Given the description of an element on the screen output the (x, y) to click on. 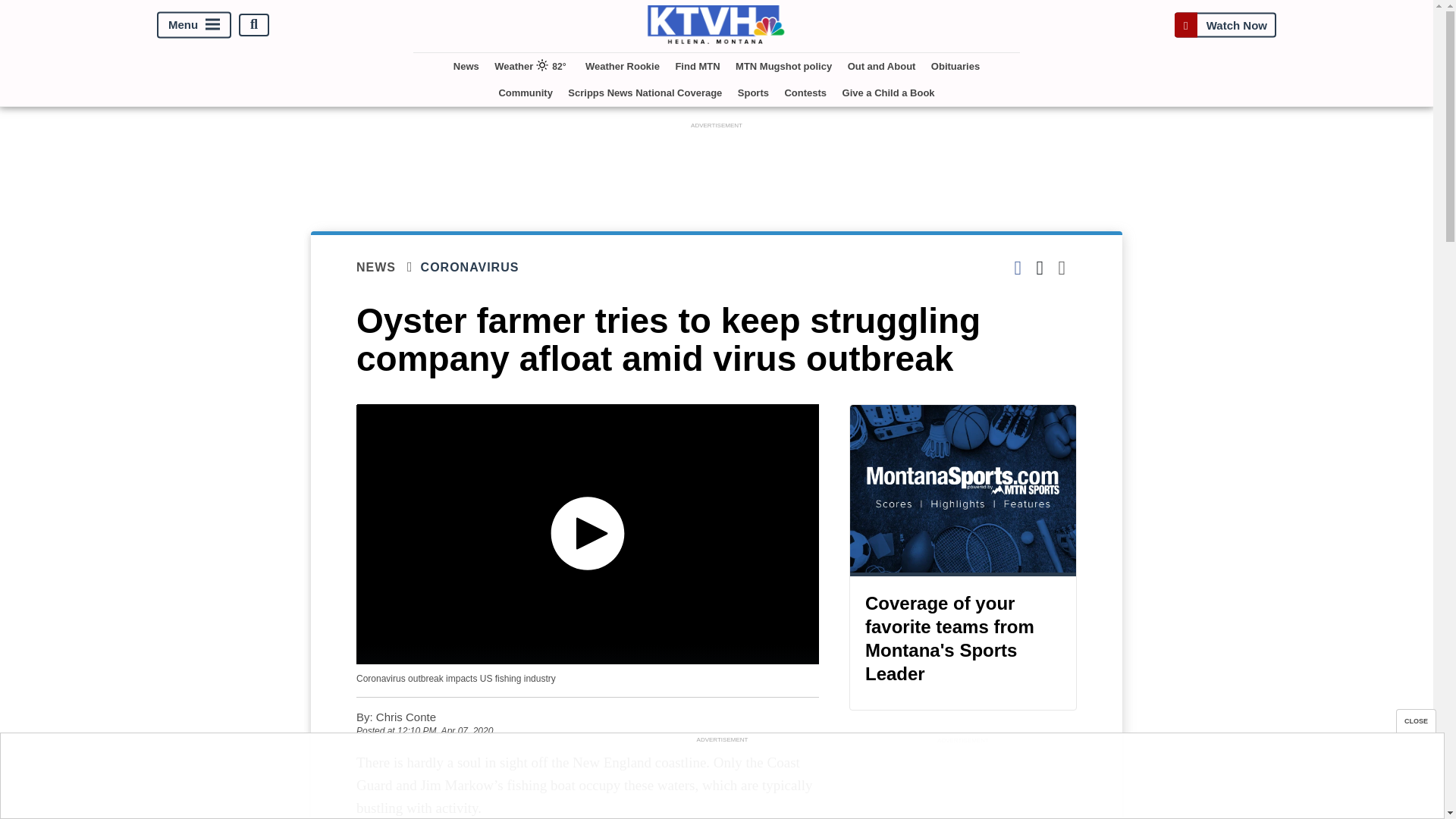
Menu (194, 24)
3rd party ad content (721, 780)
3rd party ad content (716, 166)
3rd party ad content (962, 783)
Watch Now (1224, 24)
